Given the description of an element on the screen output the (x, y) to click on. 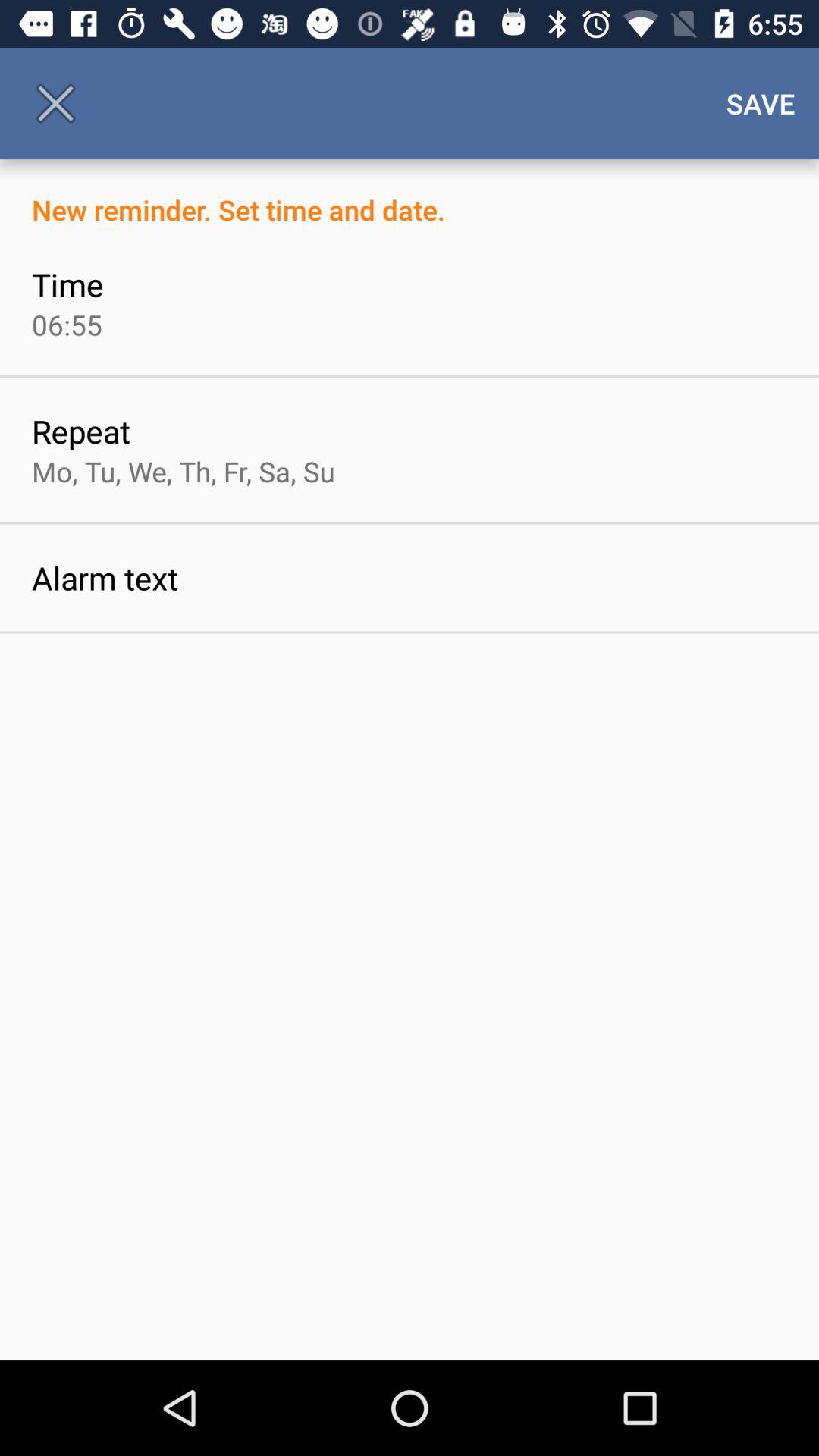
scroll until repeat item (80, 430)
